Given the description of an element on the screen output the (x, y) to click on. 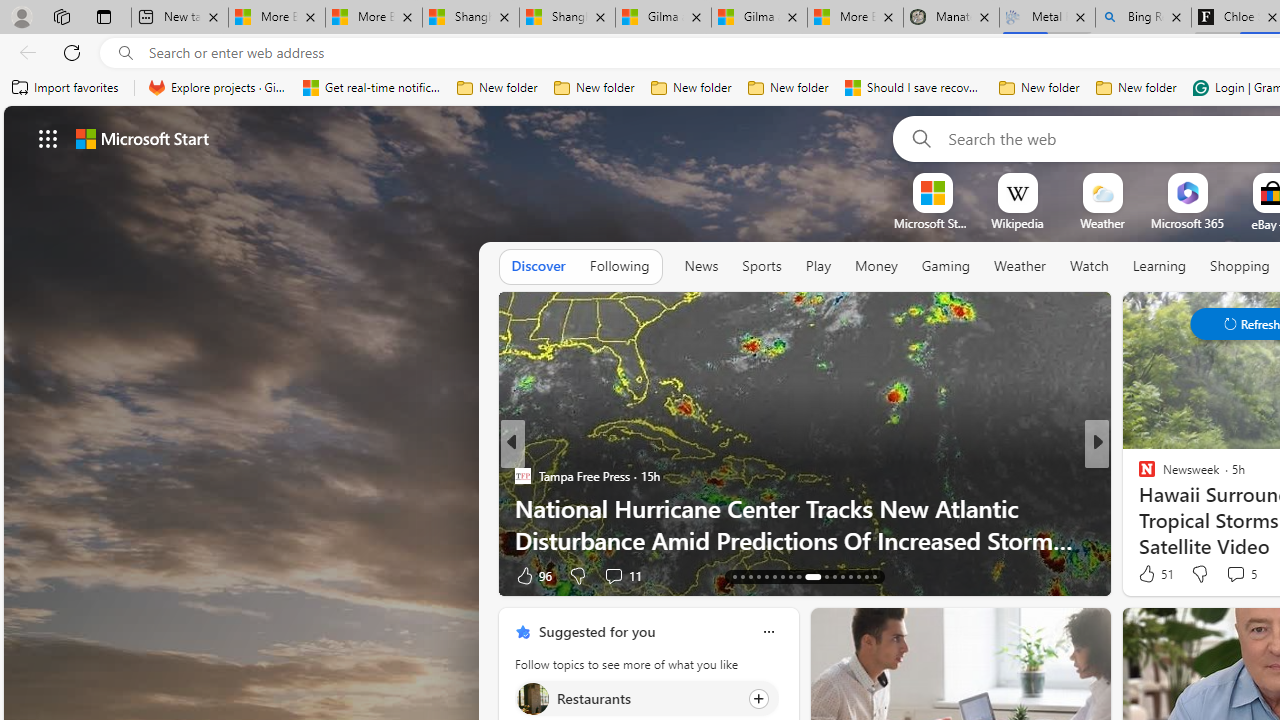
AutomationID: tab-29 (842, 576)
Bing Real Estate - Home sales and rental listings (1143, 17)
Fox Weather (1138, 475)
View comments 7 Comment (1229, 575)
7 Like (1145, 574)
View comments 5 Comment (1240, 574)
